Given the description of an element on the screen output the (x, y) to click on. 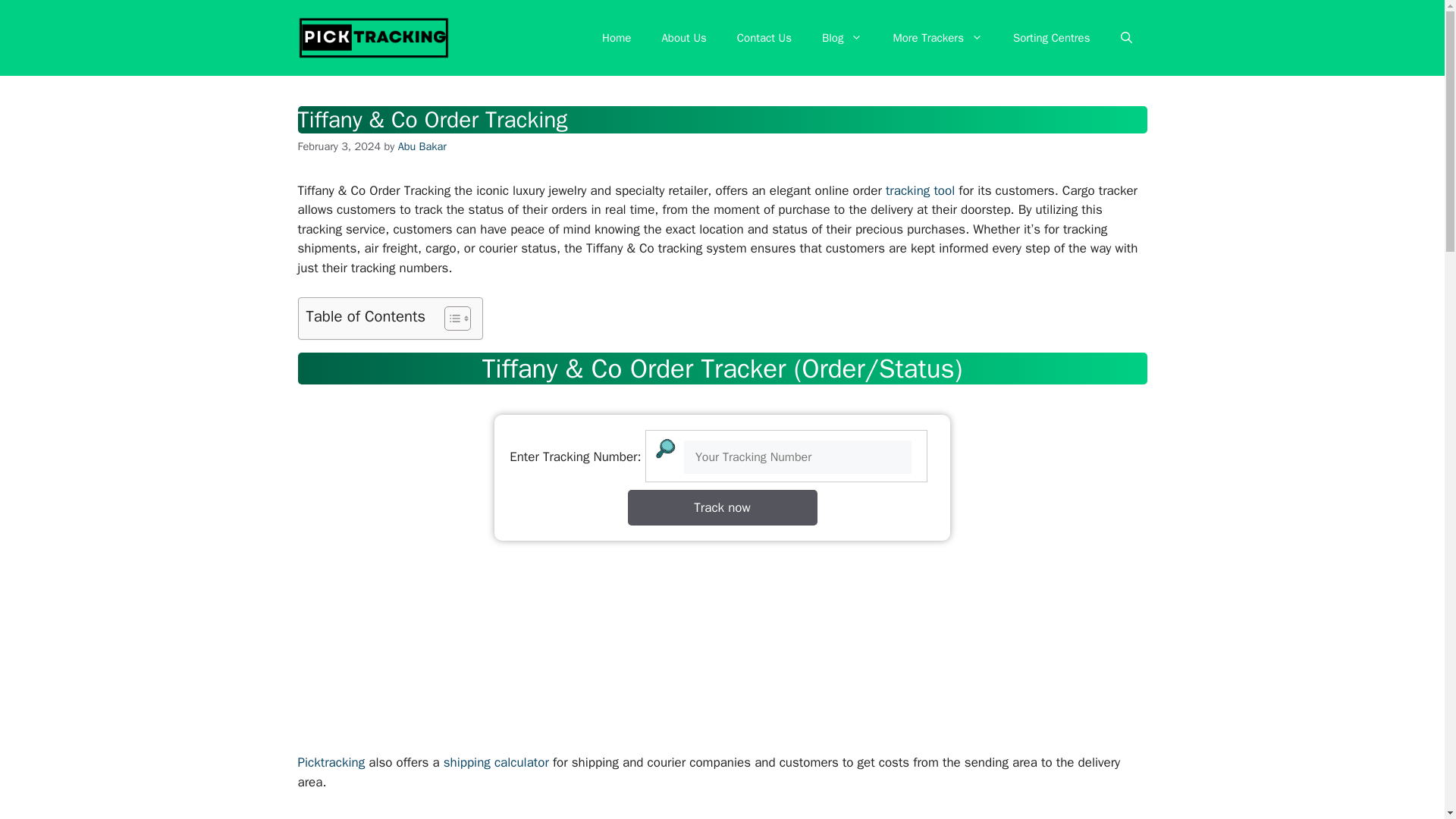
Picktracking (331, 762)
Contact Us (764, 37)
About Us (683, 37)
Home (616, 37)
shipping calculator (496, 762)
Track now (721, 507)
Sorting Centres (1051, 37)
tracking tool (920, 190)
Abu Bakar (421, 146)
Blog (841, 37)
More Trackers (937, 37)
View all posts by Abu Bakar (421, 146)
